Given the description of an element on the screen output the (x, y) to click on. 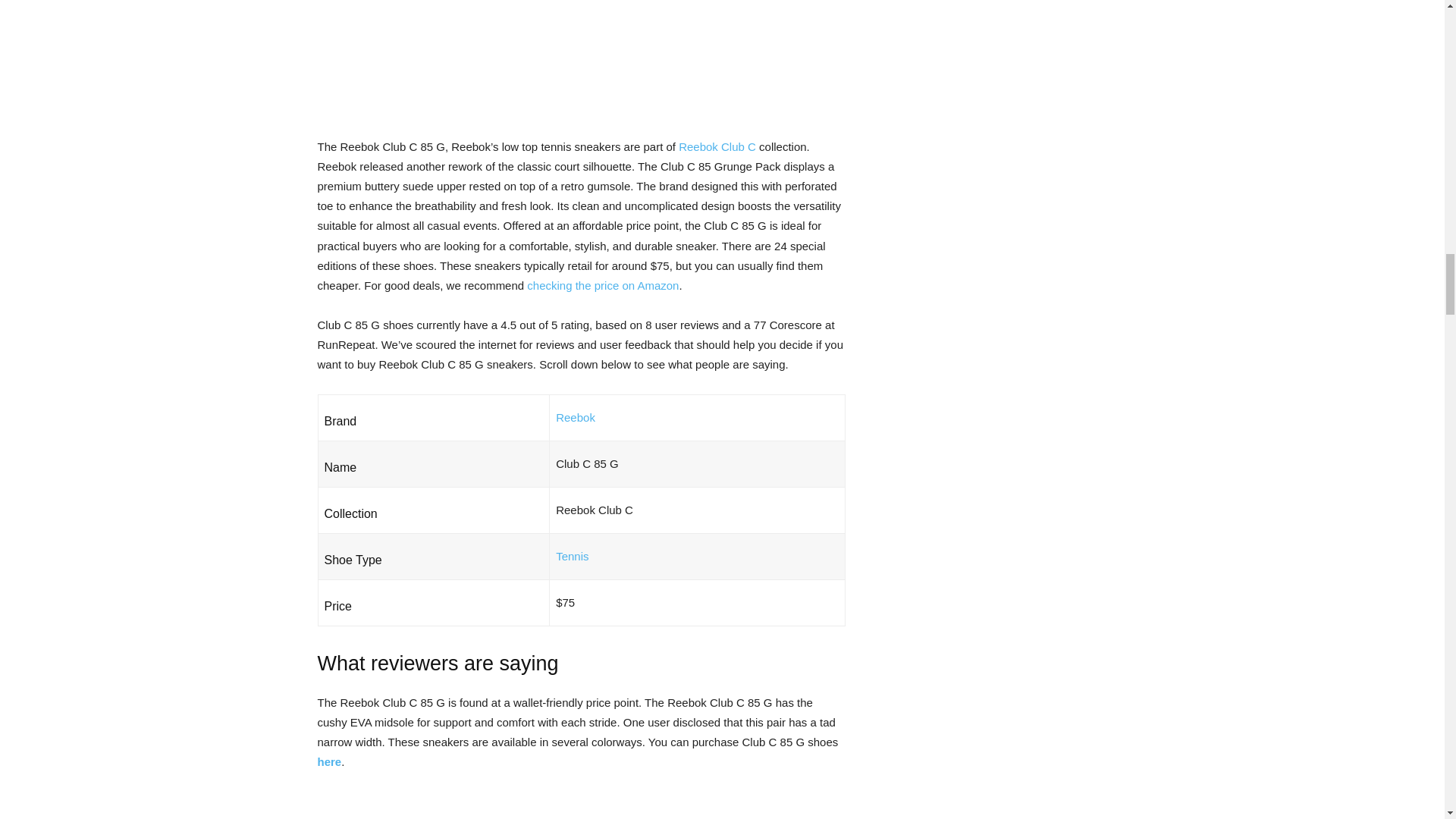
Reebok Club C (716, 146)
Best Reebok shoes (575, 417)
Best Tennis shoes (572, 555)
buy Club C 85 G (328, 761)
Reebok Club C collection (716, 146)
Reebok (575, 417)
Tennis (572, 555)
checking the price on Amazon (602, 285)
here (328, 761)
